Given the description of an element on the screen output the (x, y) to click on. 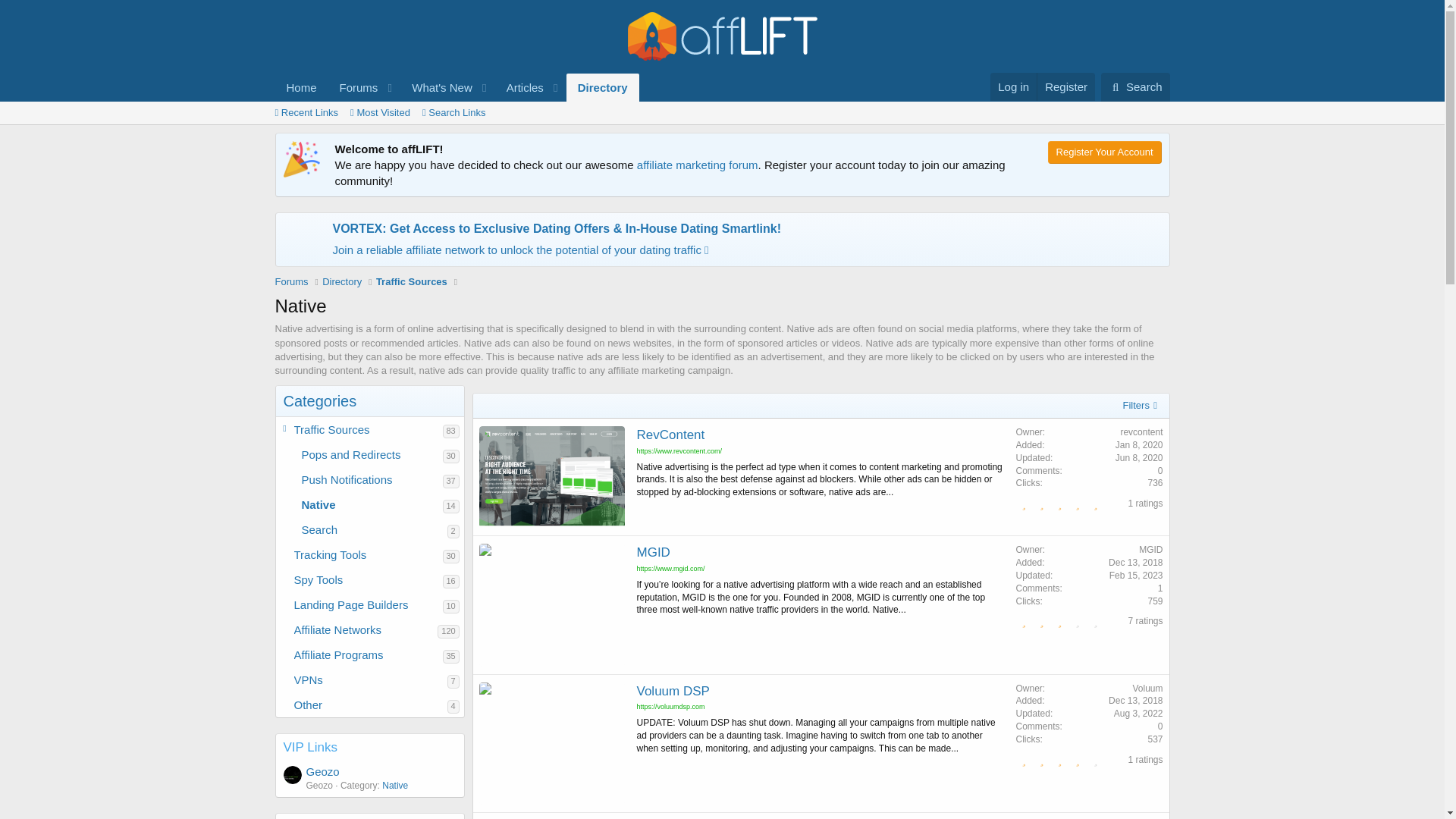
Home (456, 87)
Directory (456, 87)
What's New (301, 87)
Aug 3, 2022 at 8:47 AM (602, 87)
Feb 15, 2023 at 9:38 AM (436, 87)
Jun 8, 2020 at 12:58 PM (1138, 713)
Log in (1136, 575)
Articles (1139, 457)
